Given the description of an element on the screen output the (x, y) to click on. 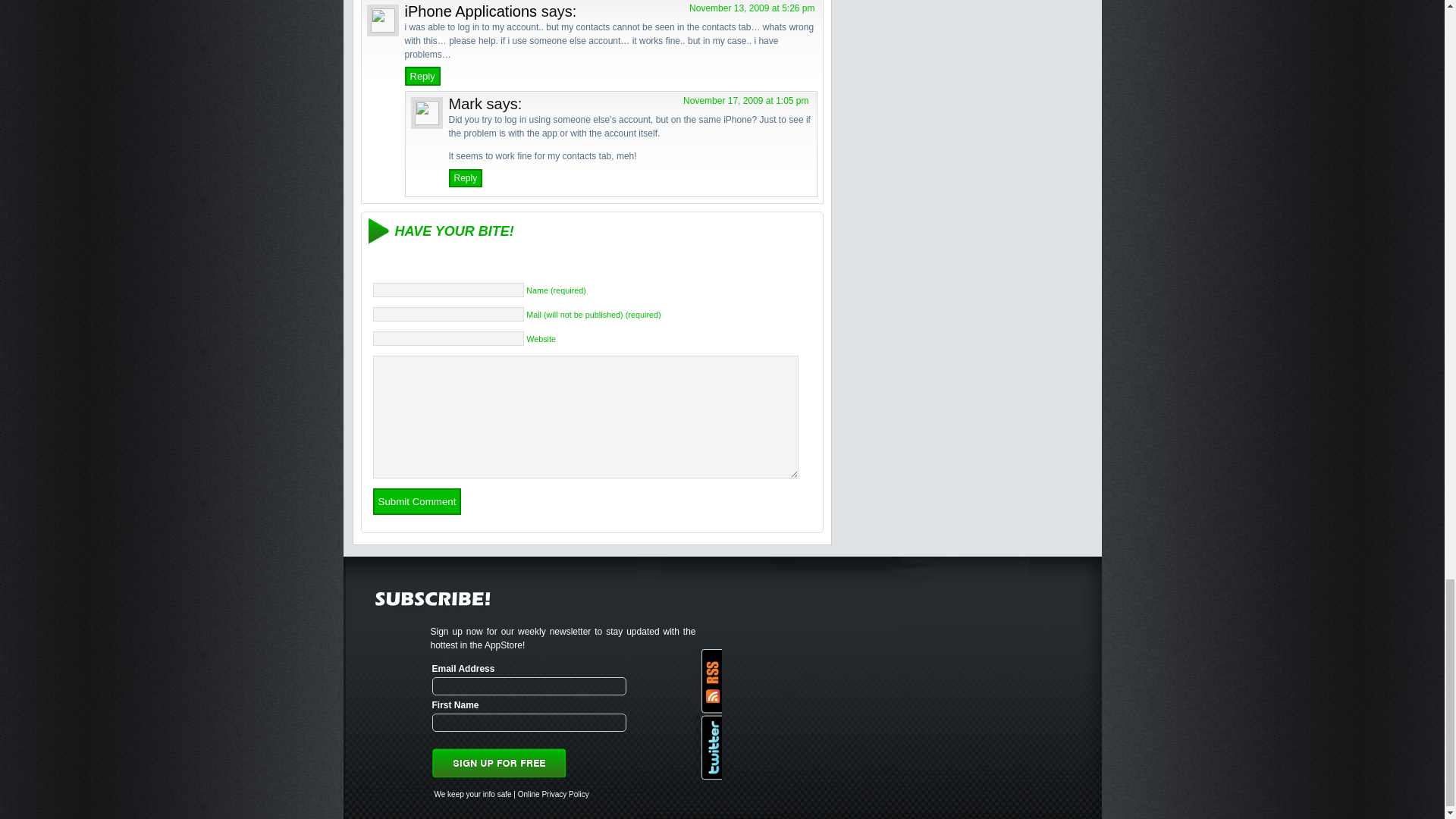
Submit Comment (416, 501)
